Given the description of an element on the screen output the (x, y) to click on. 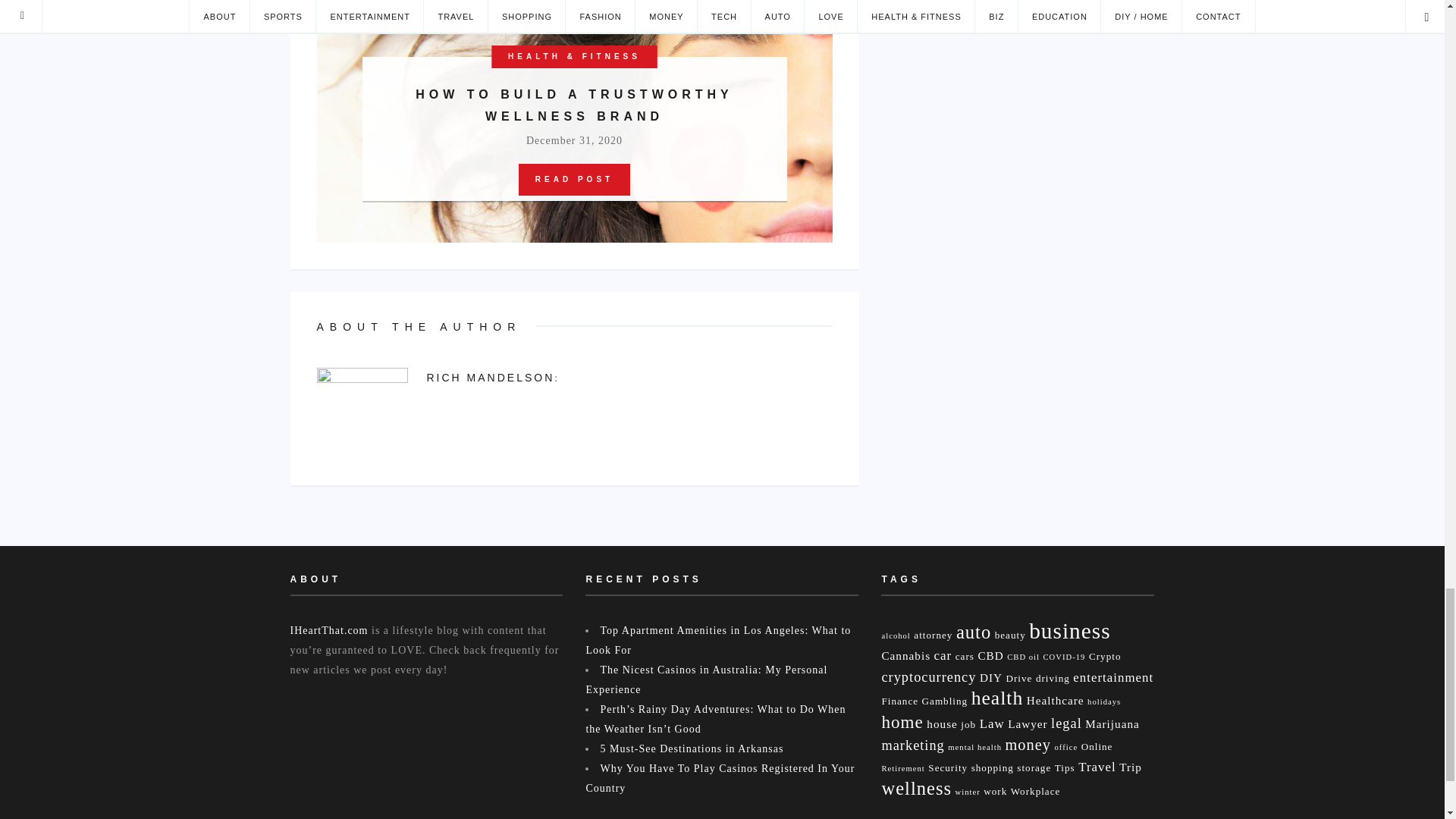
READ POST (574, 179)
